Given the description of an element on the screen output the (x, y) to click on. 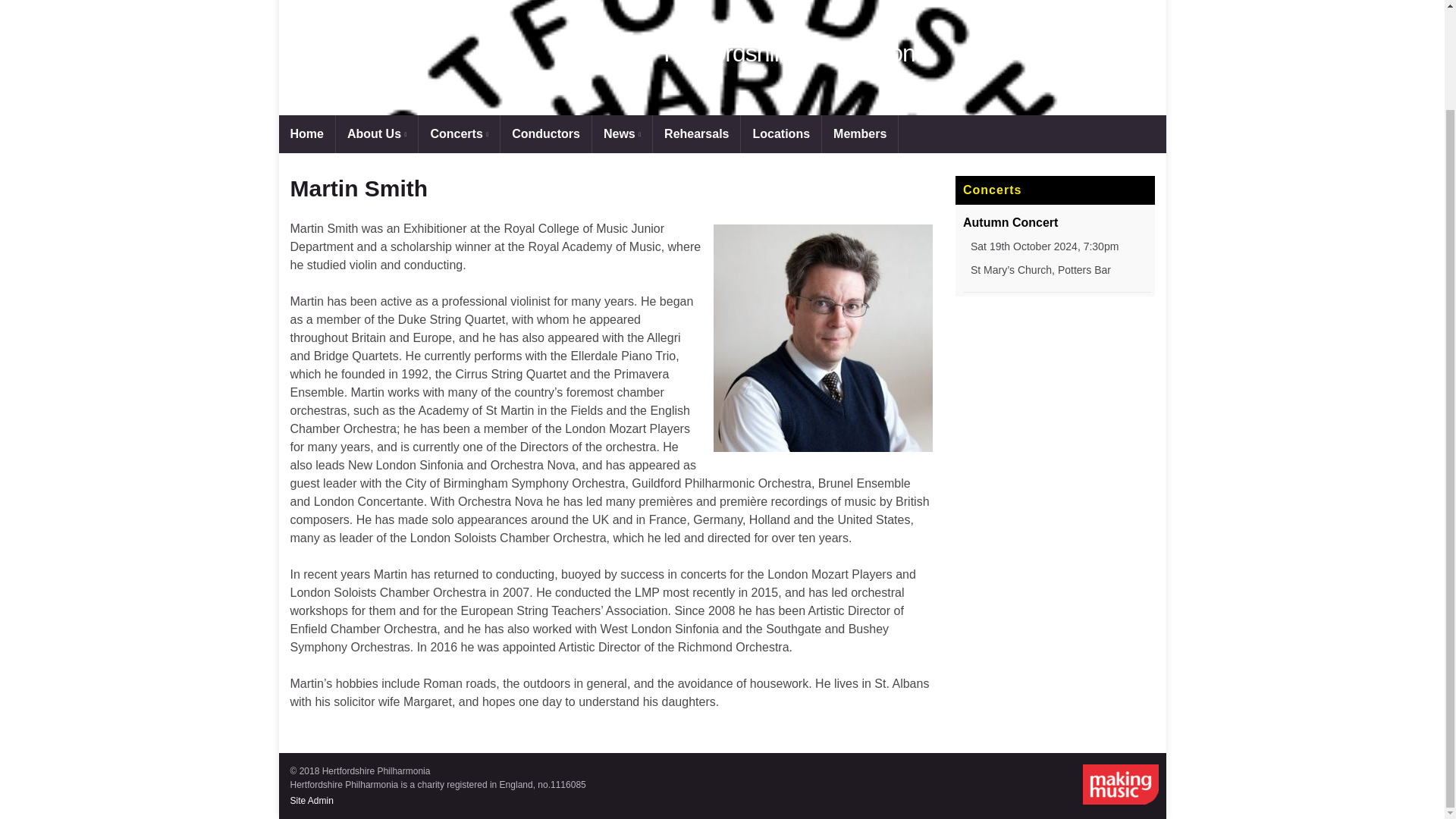
Concerts (459, 134)
Members (860, 134)
News (622, 134)
Home (306, 134)
Site Admin (311, 800)
Go back to the front page (798, 52)
Autumn Concert (1010, 222)
About Us (376, 134)
Conductors (545, 134)
